Given the description of an element on the screen output the (x, y) to click on. 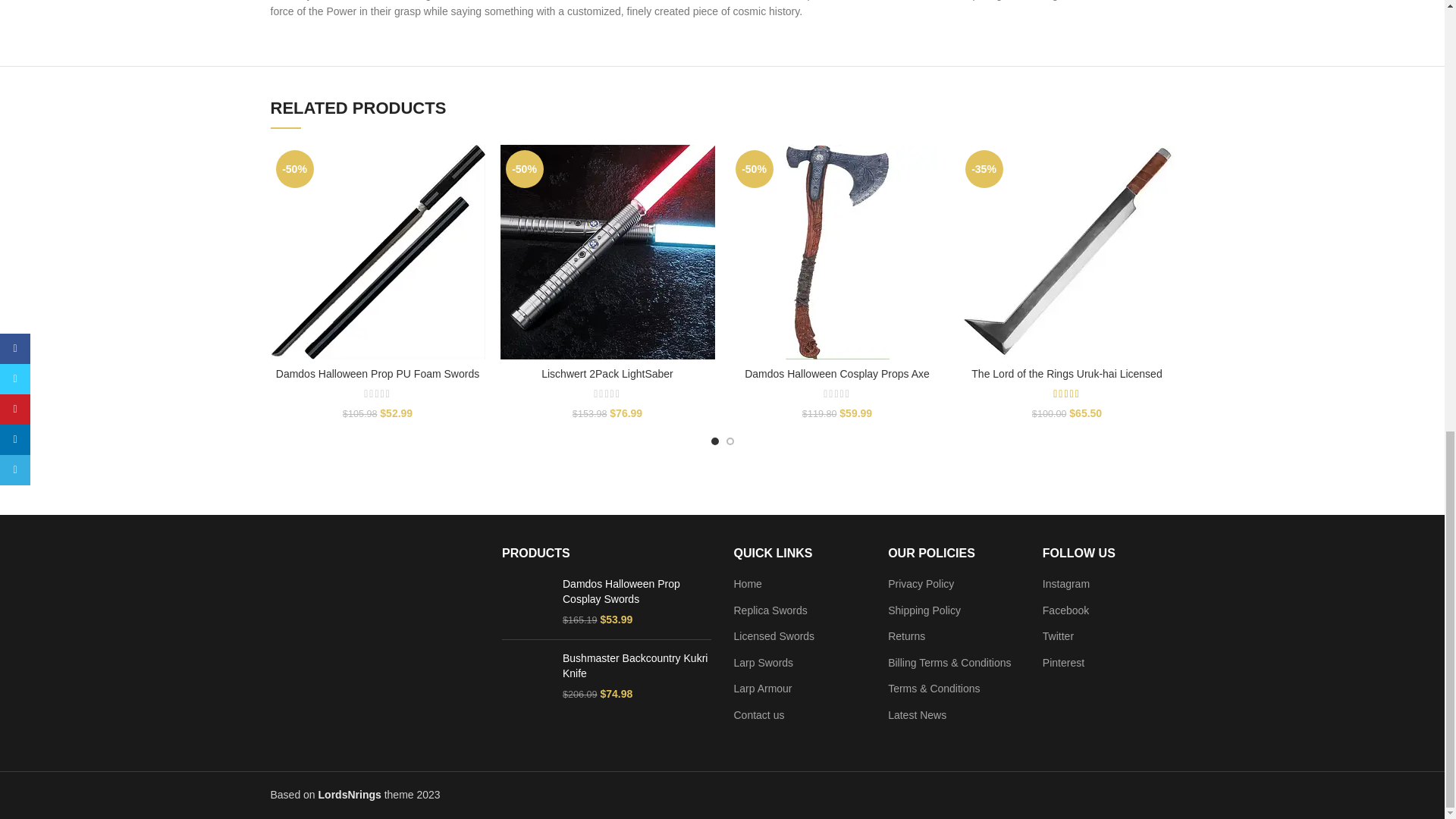
Damdos Halloween Prop Cosplay Swords (636, 591)
Bushmaster Backcountry Kukri Knife (526, 676)
Bushmaster Backcountry Kukri Knife (636, 665)
Damdos Halloween Prop Cosplay Swords (526, 602)
